Given the description of an element on the screen output the (x, y) to click on. 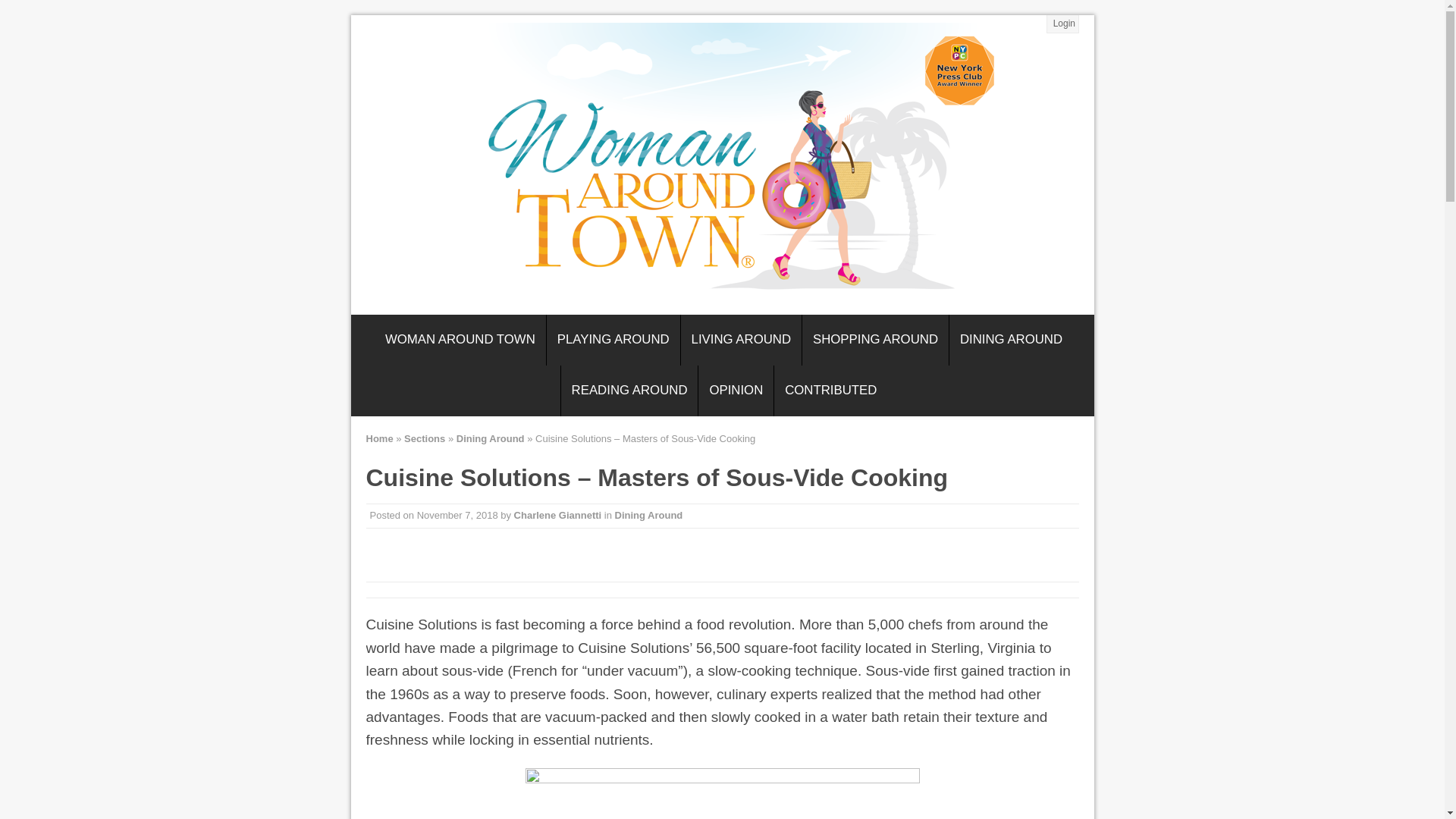
Home (379, 438)
WOMAN AROUND TOWN (460, 339)
Dining Around (648, 514)
Sections (424, 438)
CONTRIBUTED (830, 390)
DINING AROUND (1011, 339)
LIVING AROUND (741, 339)
PLAYING AROUND (613, 339)
SHOPPING AROUND (875, 339)
Login (1063, 23)
